Given the description of an element on the screen output the (x, y) to click on. 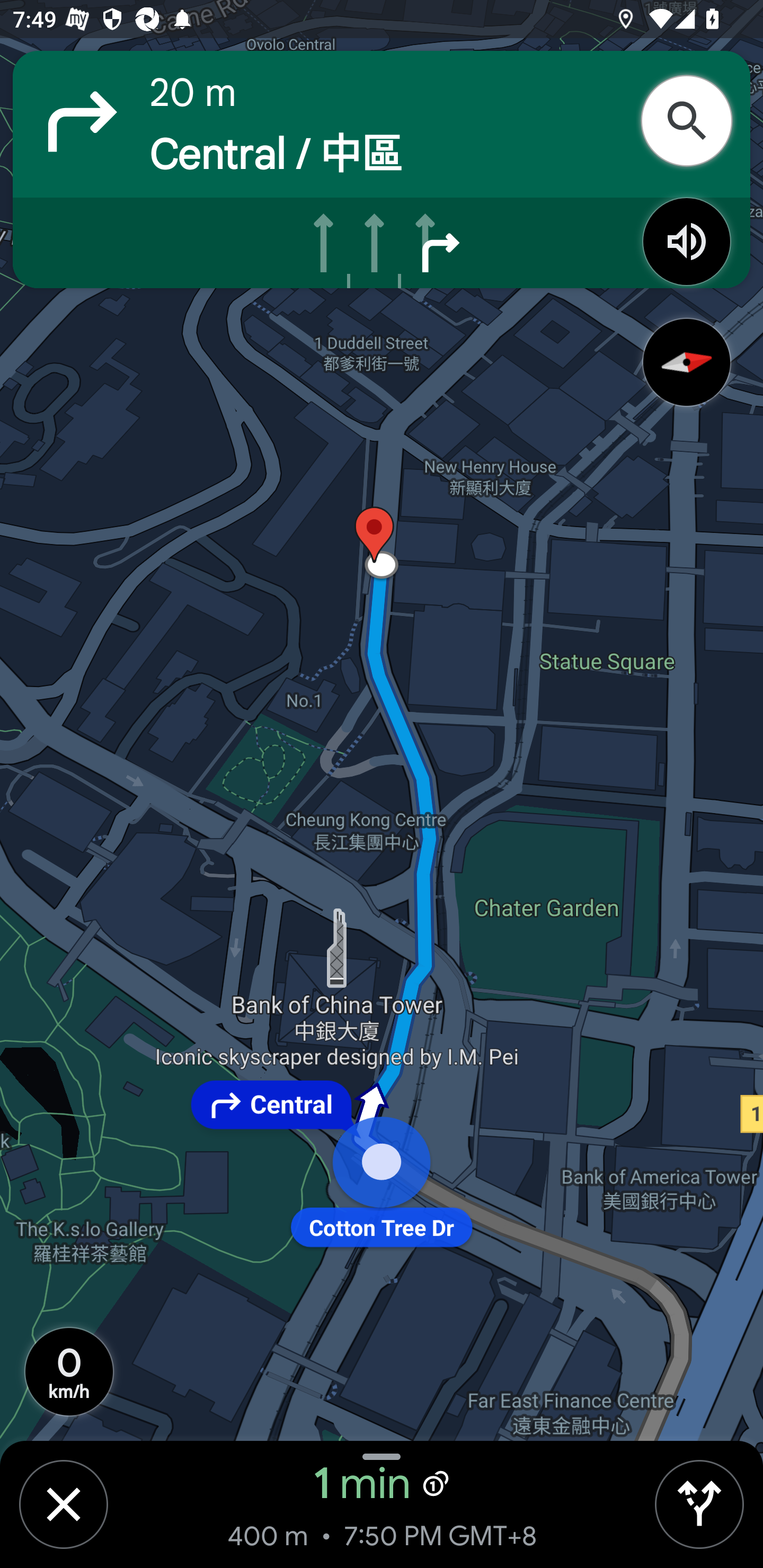
Search along route (692, 120)
Audio level selector: unmuted (686, 241)
Map bearing 281 degrees. (686, 362)
Current speed 0 kilometers per hour 0 km/h (68, 1371)
Close navigation (63, 1504)
Route preview (699, 1504)
